Given the description of an element on the screen output the (x, y) to click on. 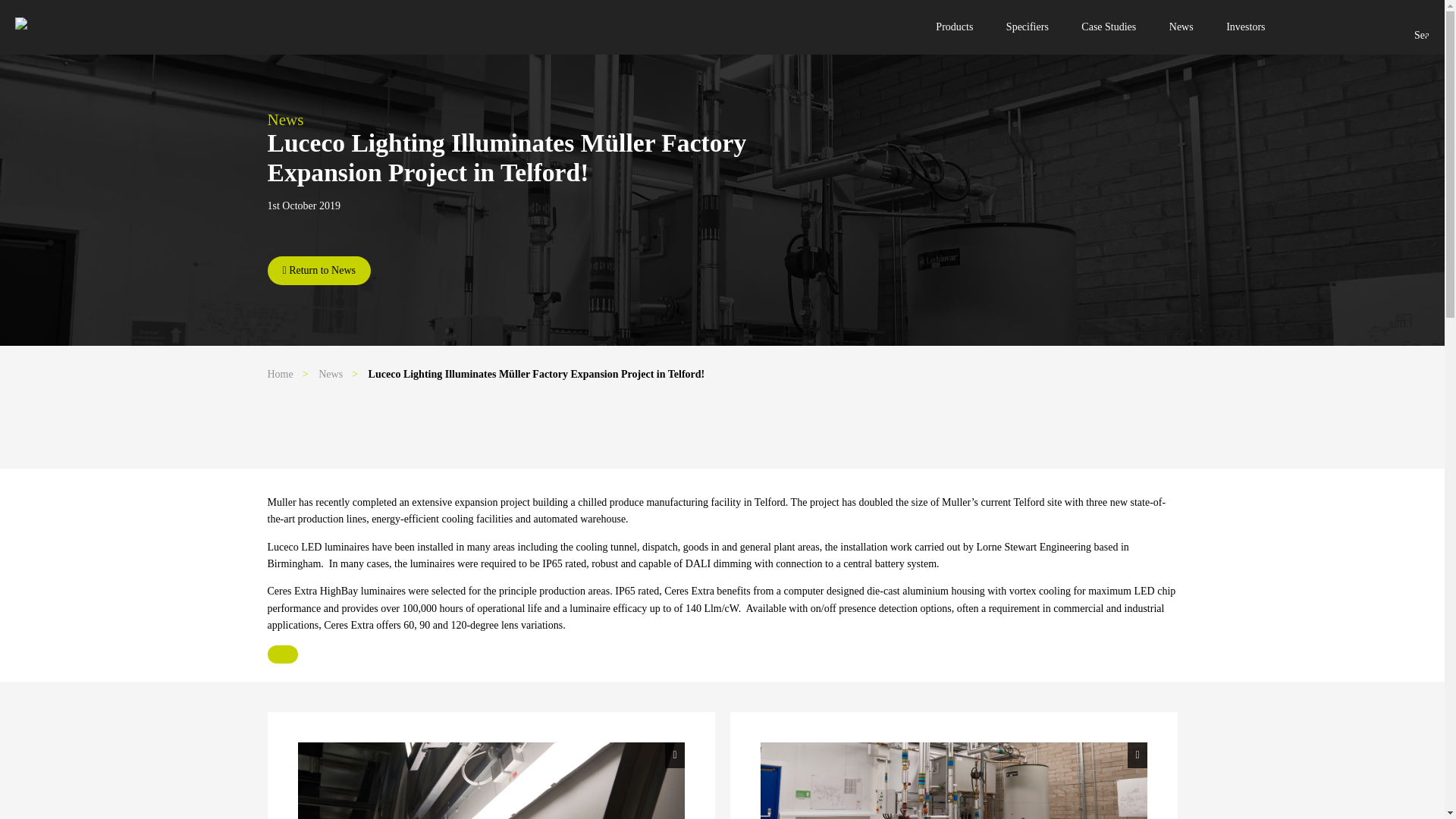
Search (1414, 30)
Products (954, 27)
Return to News (318, 270)
Case Studies (1108, 27)
Specifiers (1027, 27)
News (330, 374)
Home (279, 374)
Investors (1245, 27)
News (1181, 27)
Search (1414, 30)
